Given the description of an element on the screen output the (x, y) to click on. 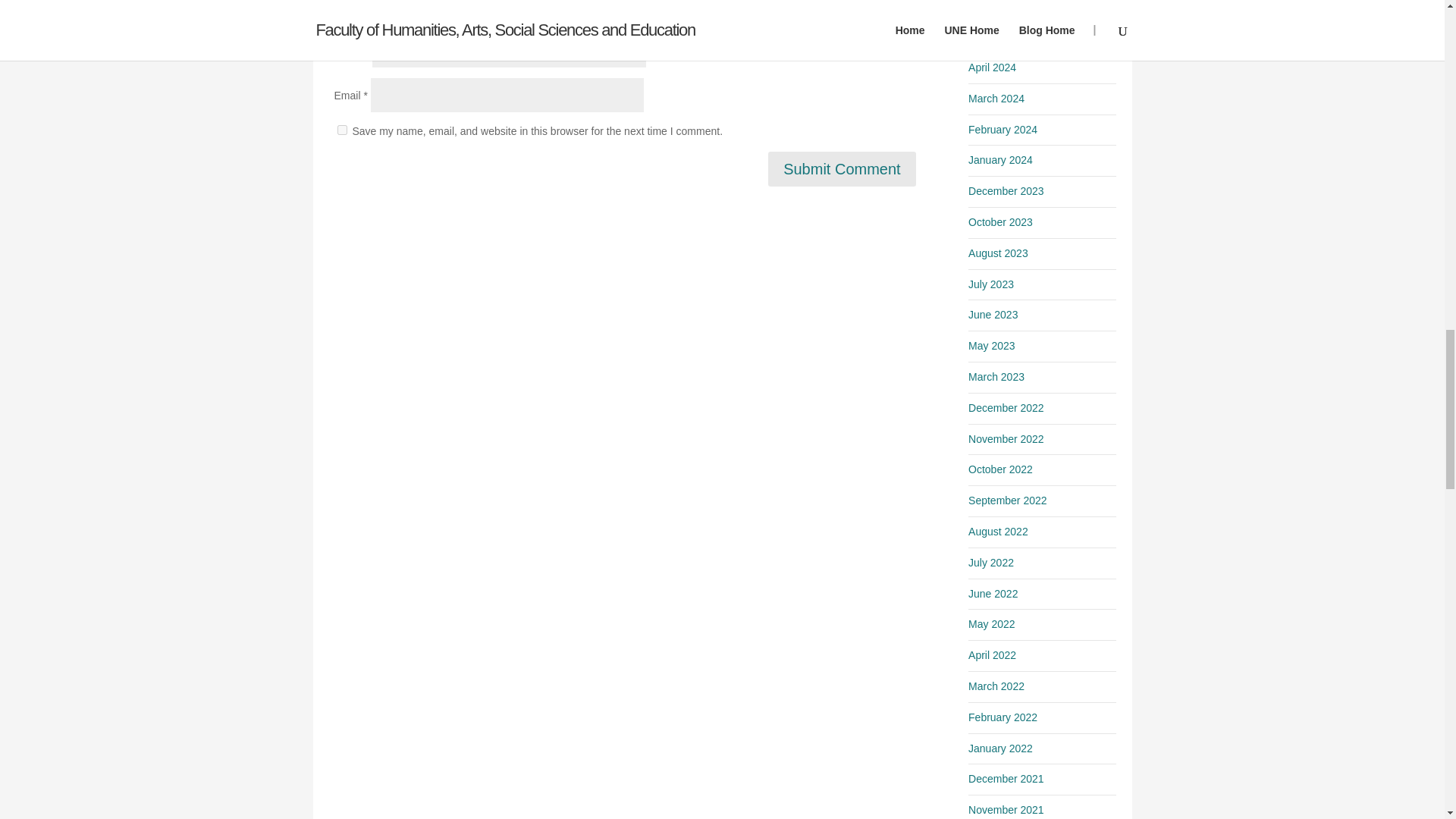
October 2023 (1000, 222)
July 2023 (990, 284)
March 2024 (996, 98)
Submit Comment (841, 168)
May 2024 (991, 36)
January 2024 (1000, 159)
February 2024 (1002, 129)
December 2023 (1005, 191)
August 2023 (997, 253)
April 2024 (992, 67)
